Given the description of an element on the screen output the (x, y) to click on. 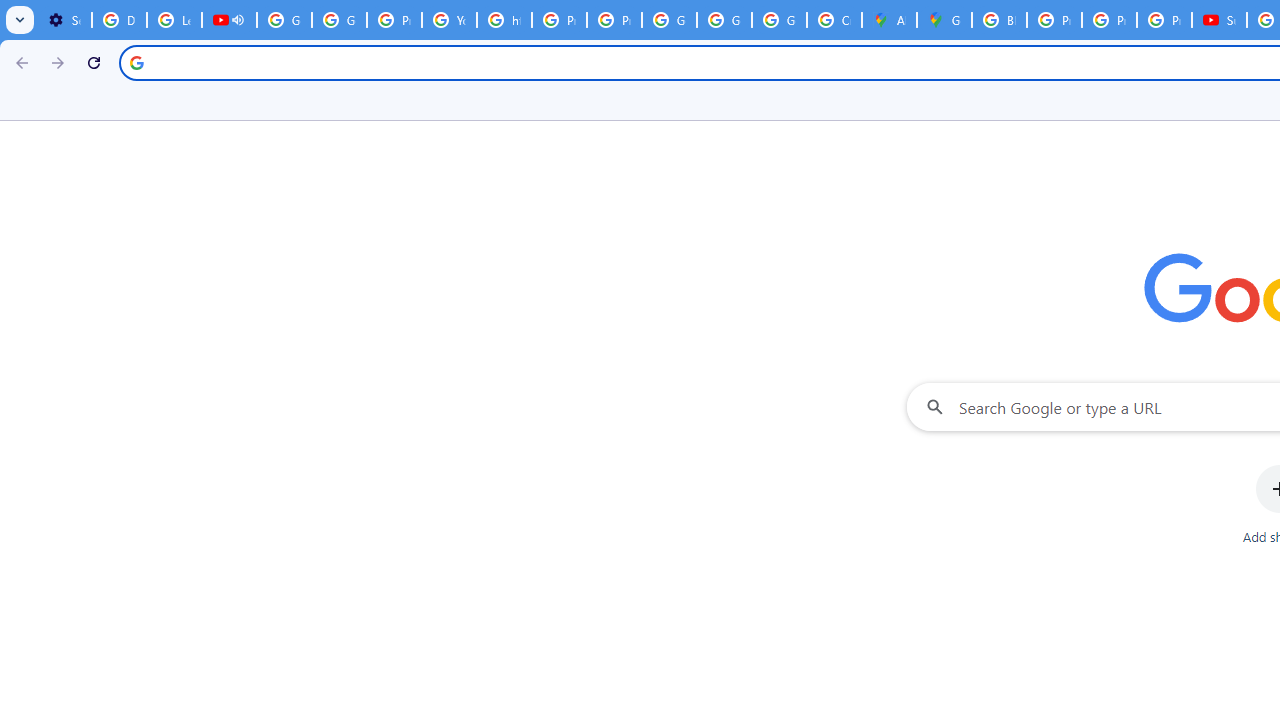
Privacy Help Center - Policies Help (394, 20)
Privacy Help Center - Policies Help (1053, 20)
Privacy Help Center - Policies Help (1108, 20)
Subscriptions - YouTube (1218, 20)
Learn how to find your photos - Google Photos Help (174, 20)
Google Account Help (284, 20)
Settings - Customize profile (64, 20)
